Given the description of an element on the screen output the (x, y) to click on. 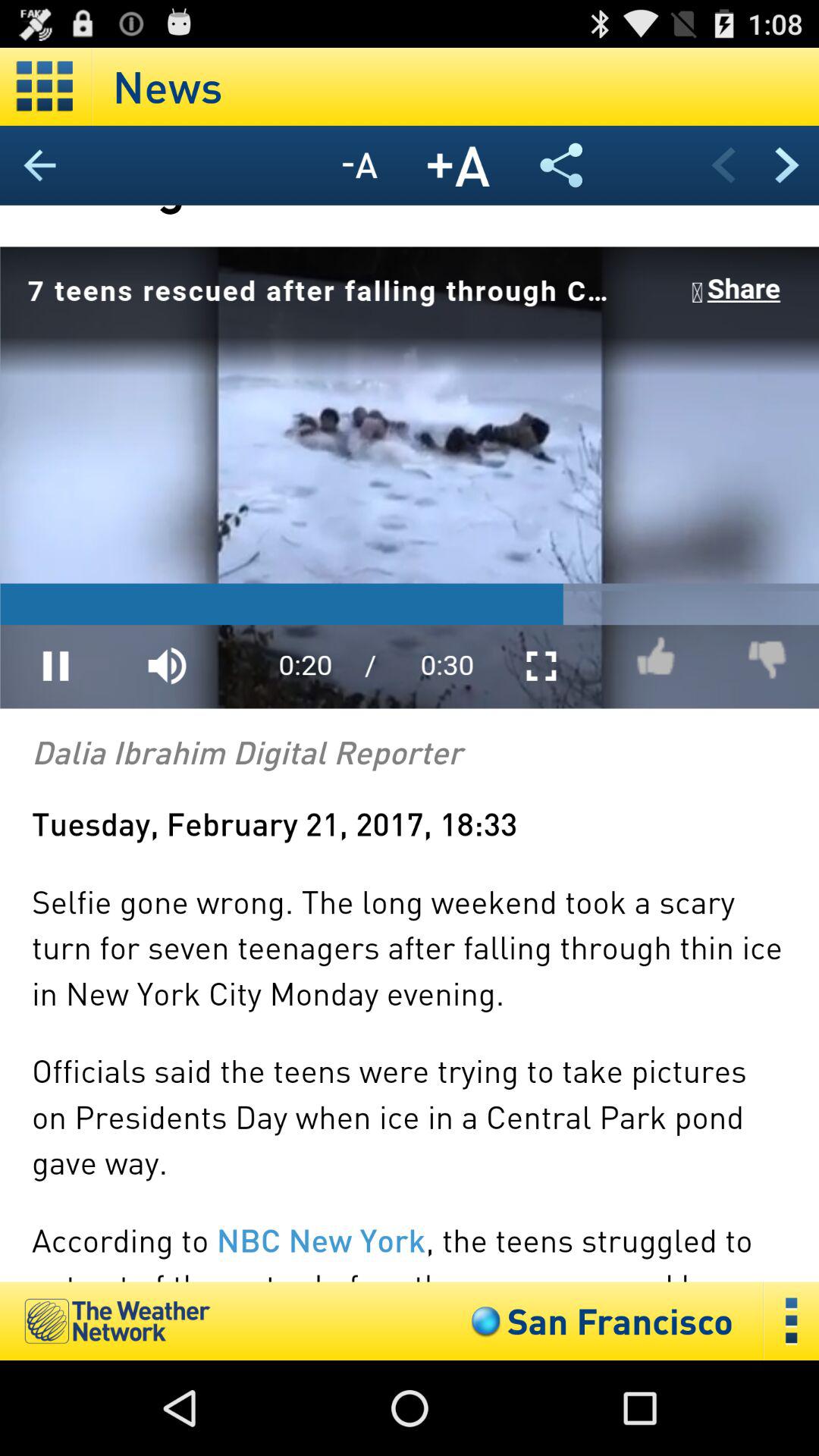
increase font size (458, 165)
